Given the description of an element on the screen output the (x, y) to click on. 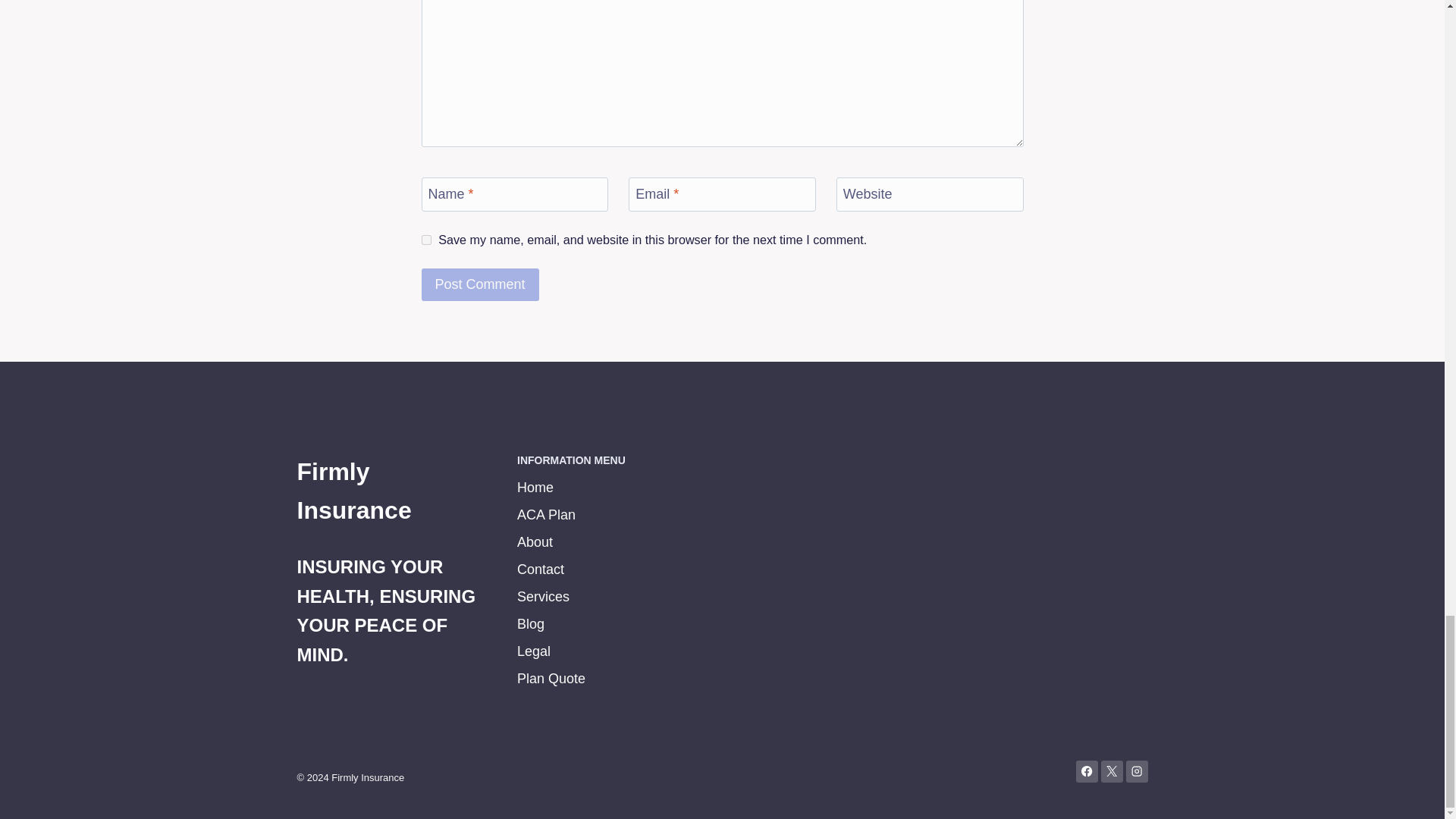
yes (426, 239)
Post Comment (480, 284)
